Given the description of an element on the screen output the (x, y) to click on. 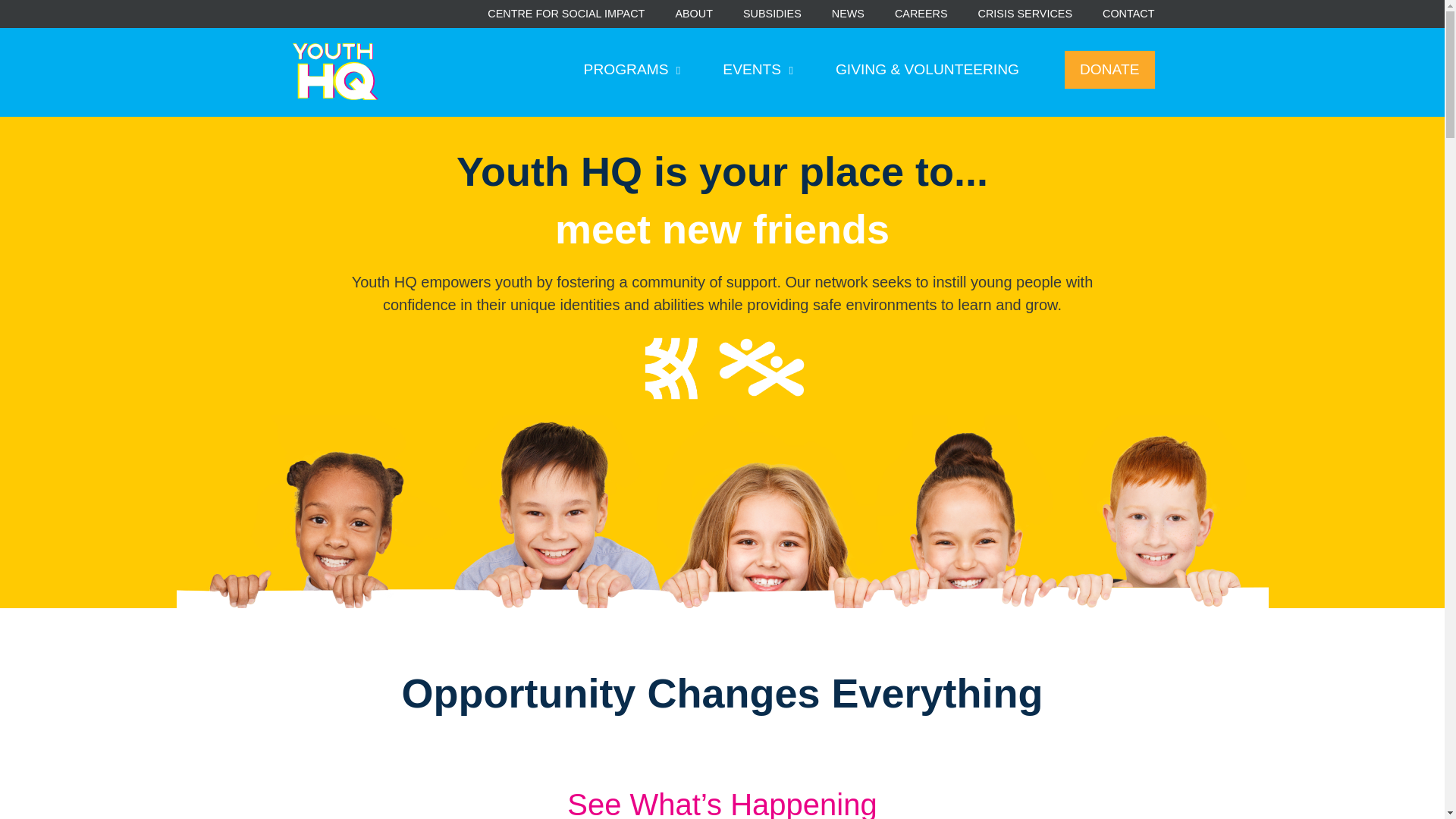
SUBSIDIES (772, 13)
CONTACT (1128, 13)
ABOUT (694, 13)
CENTRE FOR SOCIAL IMPACT (566, 13)
PROGRAMS (632, 69)
DONATE (1109, 69)
NEWS (847, 13)
CAREERS (921, 13)
EVENTS (757, 69)
CRISIS SERVICES (1025, 13)
